Given the description of an element on the screen output the (x, y) to click on. 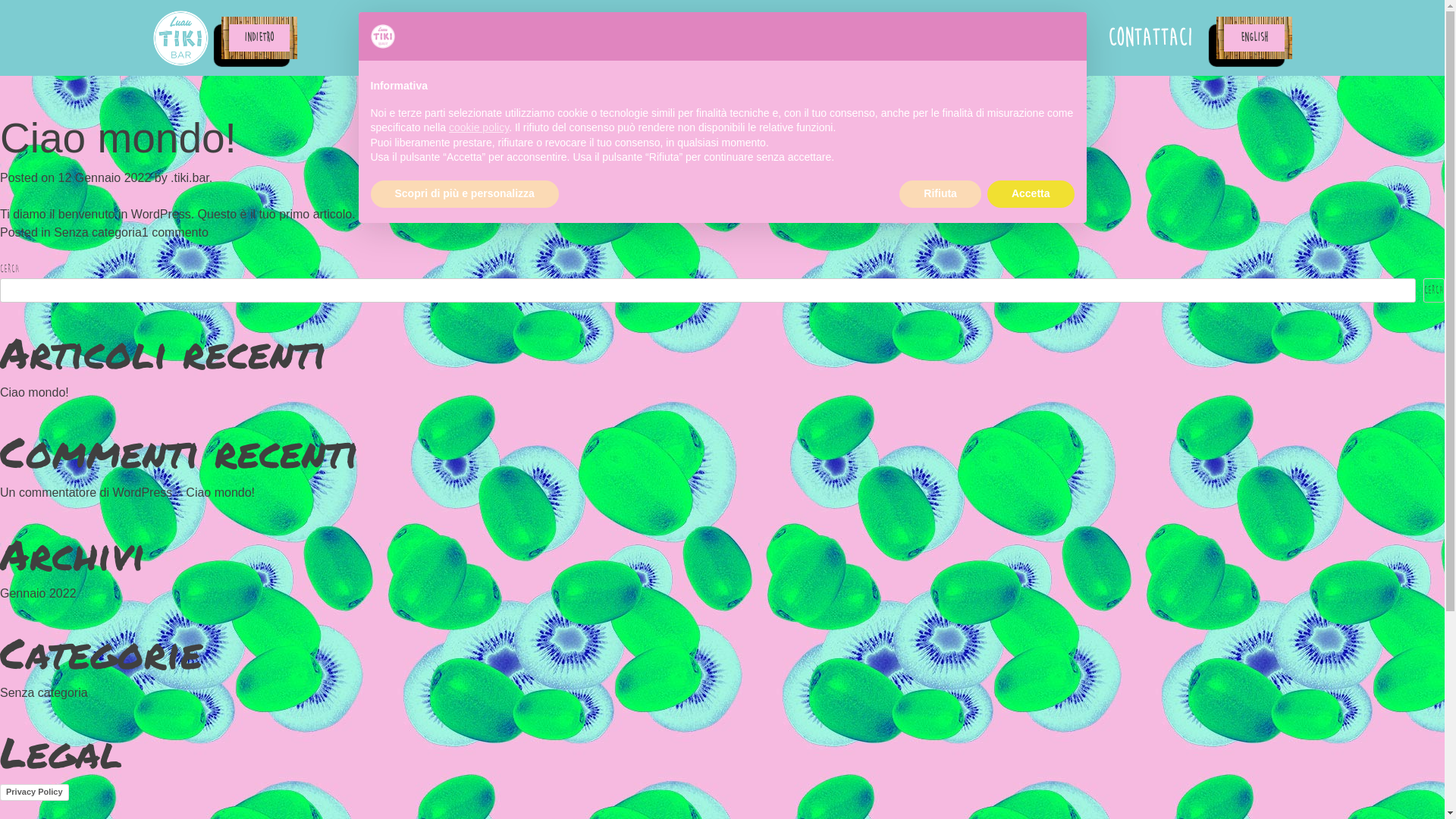
Drink Element type: text (914, 37)
Senza categoria Element type: text (43, 692)
Il nostro locale Element type: text (1020, 37)
1 commento
su Ciao mondo! Element type: text (174, 231)
cookie policy Element type: text (478, 127)
English Element type: text (1253, 37)
Senza categoria Element type: text (97, 231)
12 Gennaio 2022 Element type: text (103, 177)
Accetta Element type: text (1030, 193)
Gennaio 2022 Element type: text (38, 592)
Contattaci Element type: text (1149, 37)
.tiki.bar. Element type: text (191, 177)
Privacy Policy Element type: text (34, 792)
Indietro Element type: text (259, 37)
Ciao mondo! Element type: text (118, 136)
Facce da tiki Element type: text (820, 37)
Cerca Element type: text (1433, 290)
Rifiuta Element type: text (940, 193)
Ciao mondo! Element type: text (219, 492)
Un commentatore di WordPress Element type: text (86, 492)
Ciao mondo! Element type: text (34, 391)
